Given the description of an element on the screen output the (x, y) to click on. 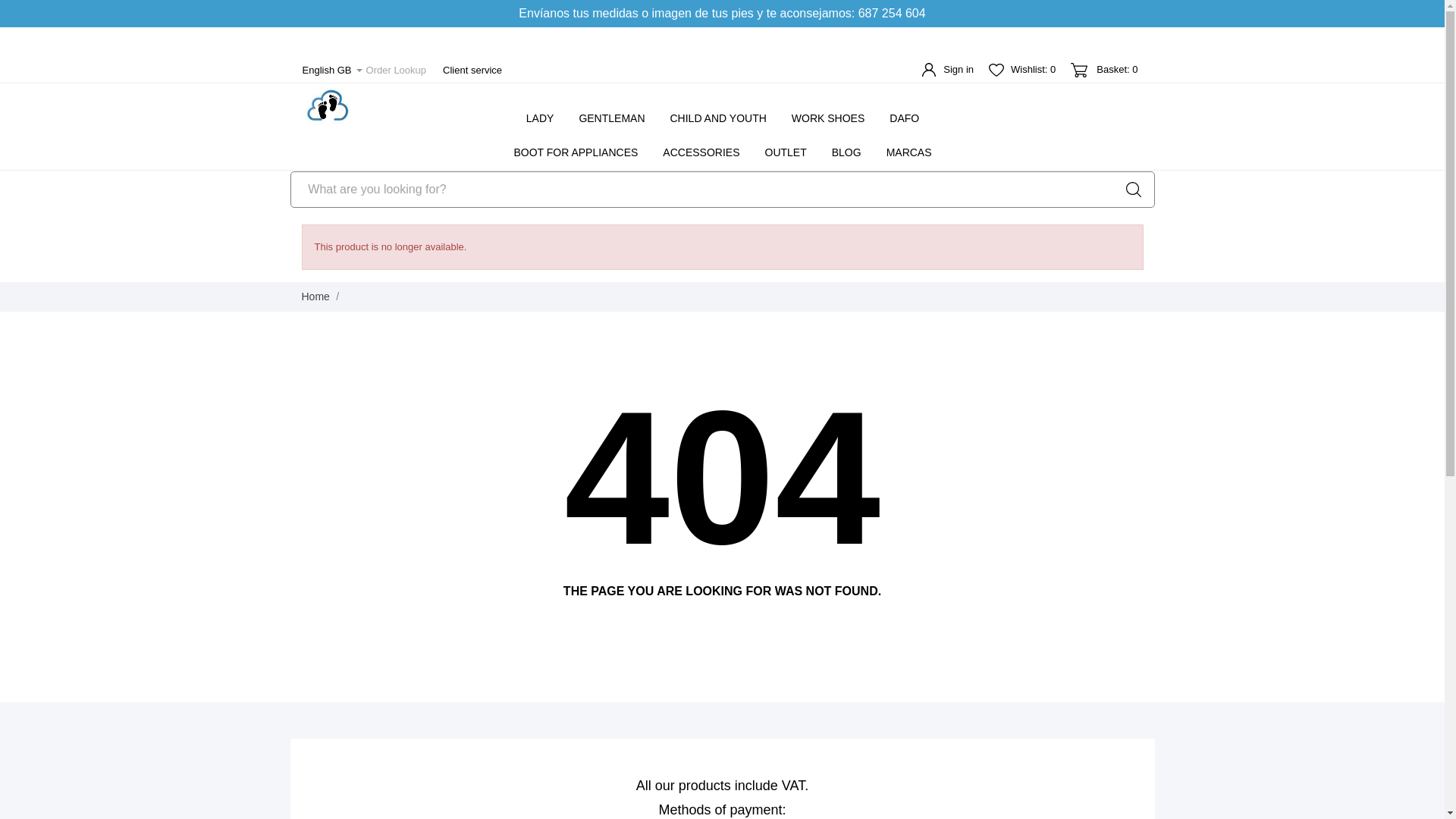
Click to view your orders (396, 70)
Basket: 0 (1103, 69)
LADY (539, 116)
My wishlist (1021, 68)
Log in to your customer account (947, 69)
Wishlist: 0 (1021, 68)
English GB (331, 70)
GENTLEMAN (611, 116)
Order Lookup (396, 70)
Sign in (947, 69)
